Given the description of an element on the screen output the (x, y) to click on. 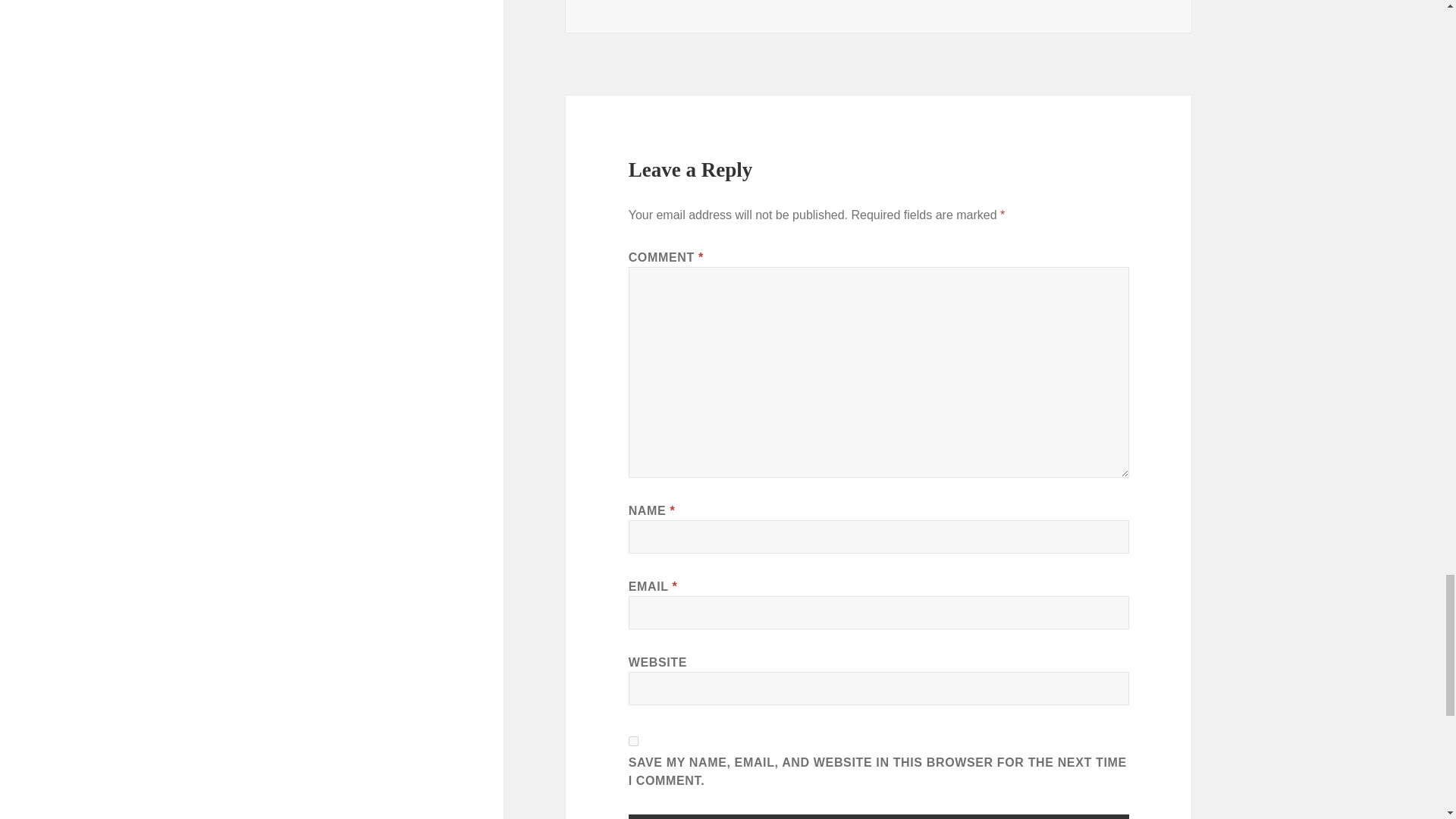
yes (633, 741)
